Given the description of an element on the screen output the (x, y) to click on. 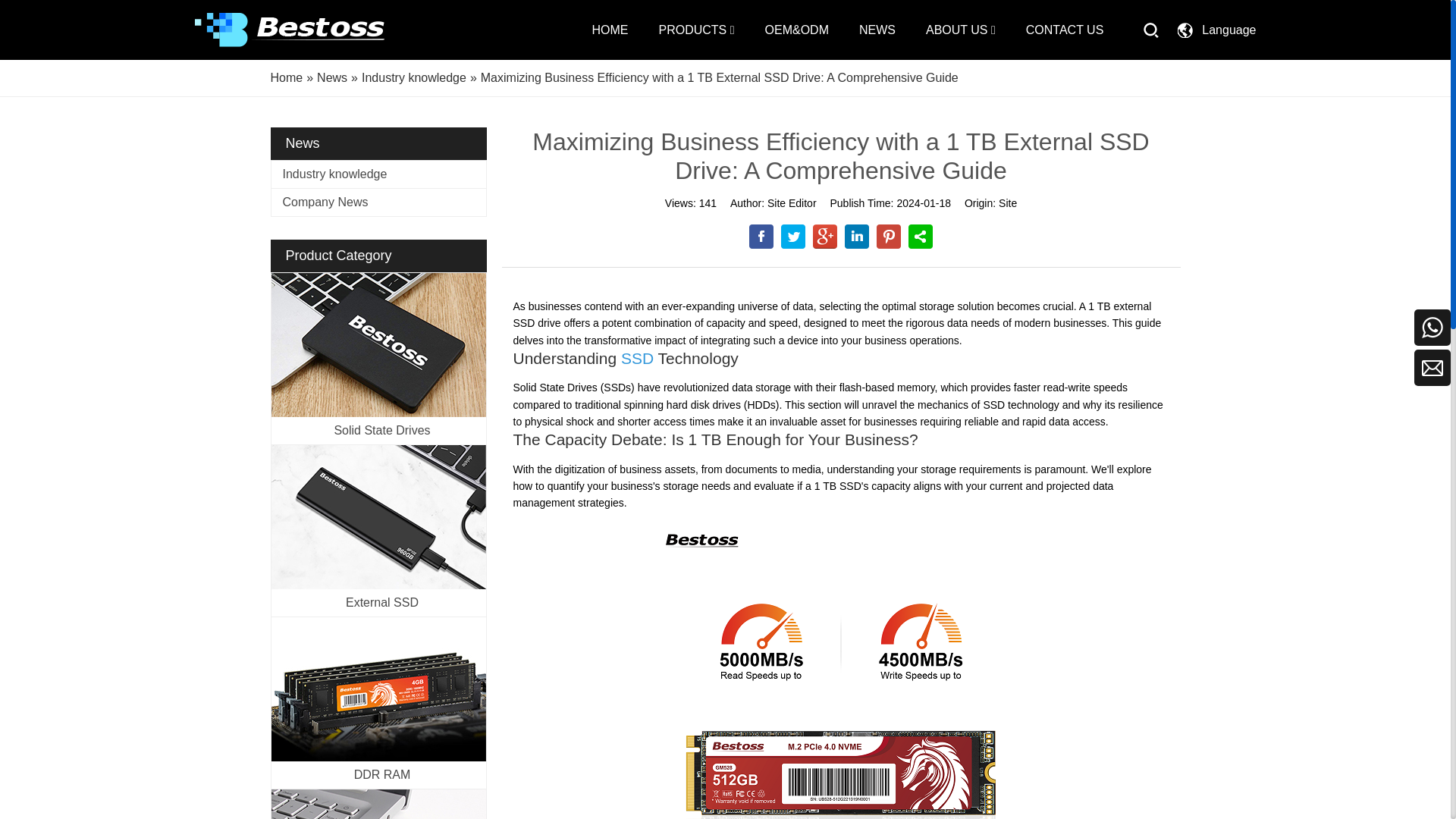
CONTACT US (1064, 29)
Solid State Drives (378, 344)
HOME (609, 29)
ABOUT US (960, 29)
NEWS (877, 29)
PRODUCTS (695, 29)
External SSD (378, 516)
DDR RAM (378, 689)
USB Flash Drive (378, 804)
